Given the description of an element on the screen output the (x, y) to click on. 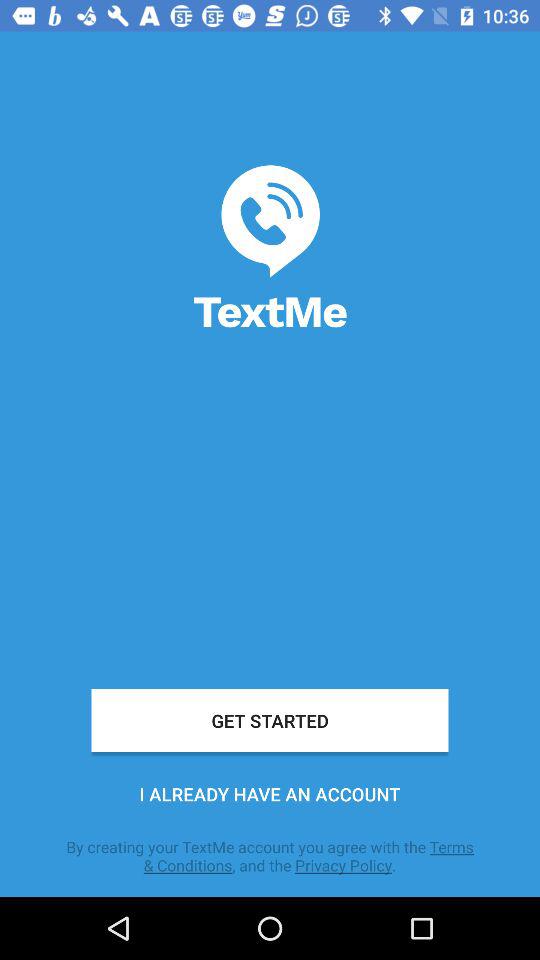
choose icon above by creating your (269, 793)
